Given the description of an element on the screen output the (x, y) to click on. 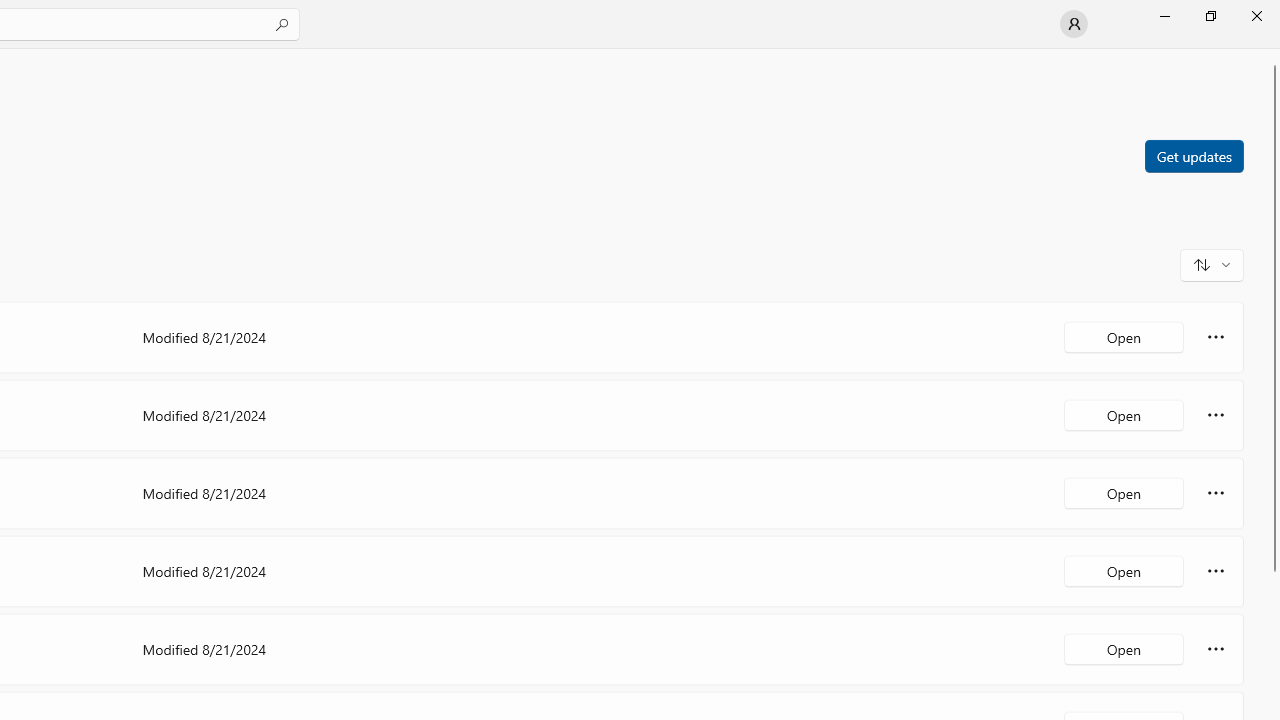
Get updates (1193, 155)
Vertical Small Decrease (1272, 55)
Sort and filter (1212, 263)
More options (1215, 648)
Open (1123, 648)
